Given the description of an element on the screen output the (x, y) to click on. 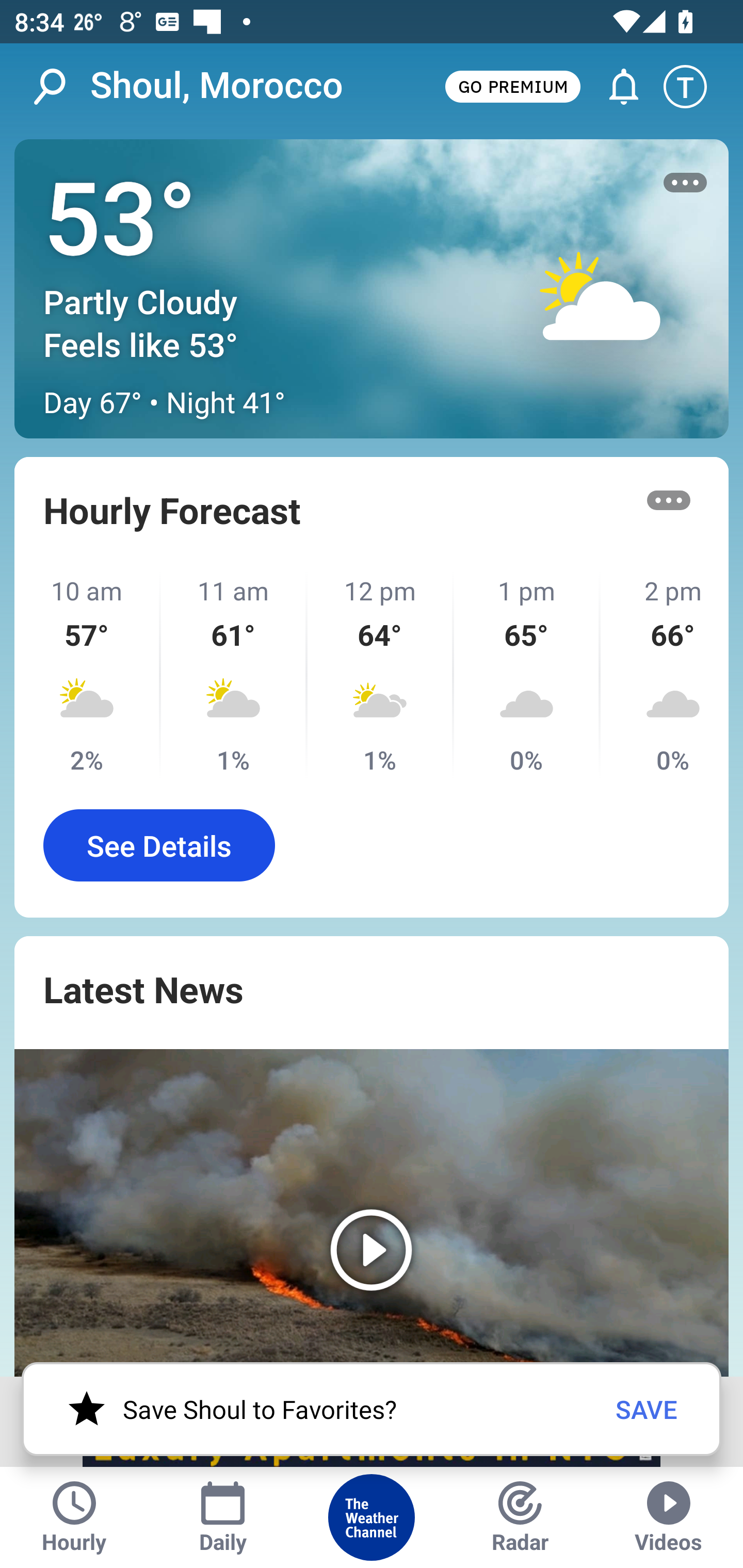
Search (59, 86)
Go to Alerts and Notifications (614, 86)
Setting icon T (694, 86)
Shoul, Morocco (216, 85)
GO PREMIUM (512, 85)
More options (684, 182)
More options (668, 500)
10 am 57° 2% (87, 674)
11 am 61° 1% (234, 674)
12 pm 64° 1% (380, 674)
1 pm 65° 0% (526, 674)
2 pm 66° 0% (664, 674)
See Details (158, 845)
Play (371, 1212)
Save Shoul to Favorites? SAVE (371, 1409)
SAVE (646, 1408)
Hourly Tab Hourly (74, 1517)
Daily Tab Daily (222, 1517)
Radar Tab Radar (519, 1517)
Videos Tab Videos (668, 1517)
